Given the description of an element on the screen output the (x, y) to click on. 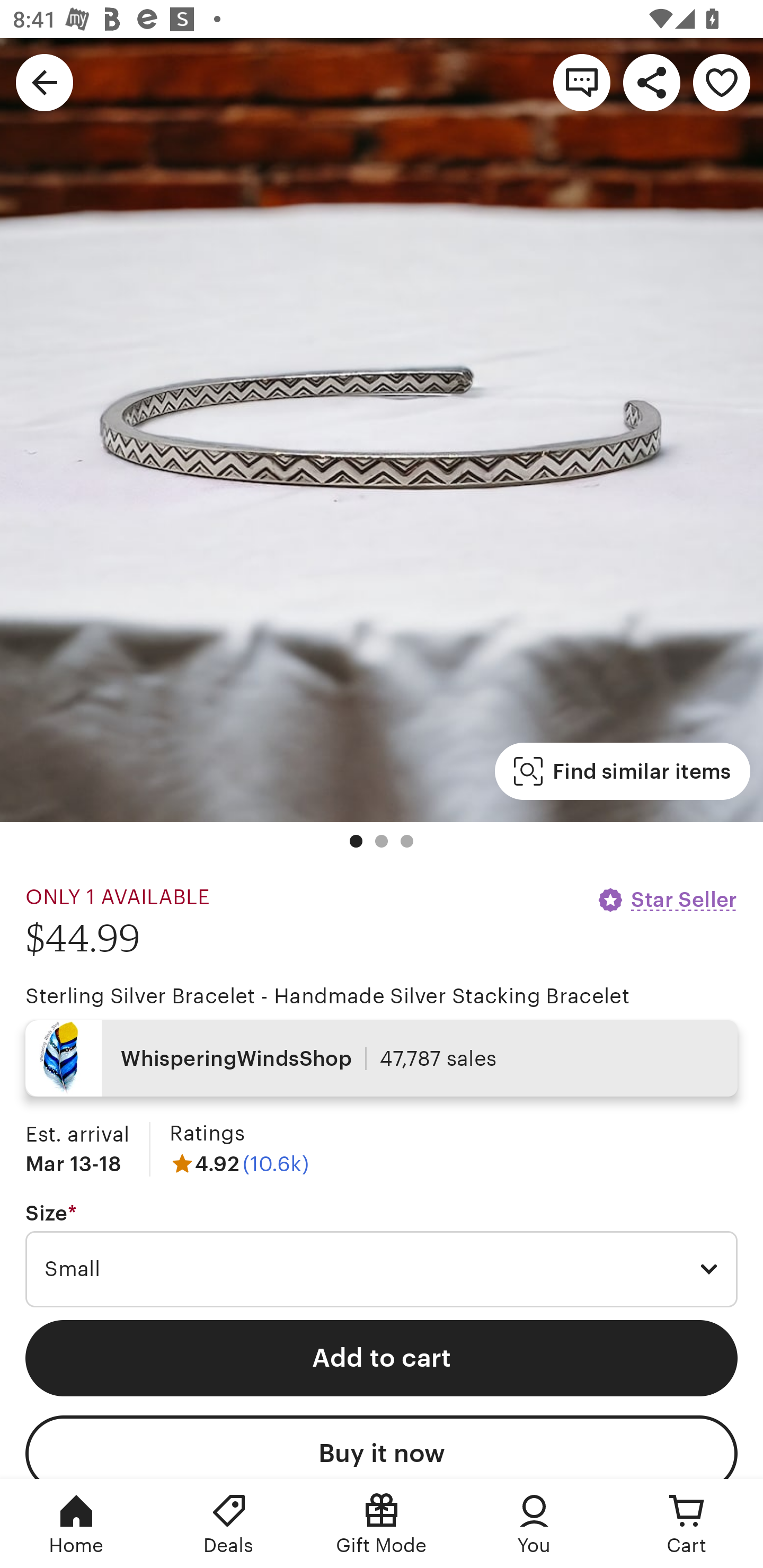
Navigate up (44, 81)
Contact shop (581, 81)
Share (651, 81)
Find similar items (622, 771)
Star Seller (666, 899)
WhisperingWindsShop 47,787 sales (381, 1058)
Ratings (206, 1133)
4.92 (10.6k) (239, 1163)
Size * Required Small (381, 1254)
Small (381, 1268)
Add to cart (381, 1358)
Buy it now (381, 1446)
Deals (228, 1523)
Gift Mode (381, 1523)
You (533, 1523)
Cart (686, 1523)
